Given the description of an element on the screen output the (x, y) to click on. 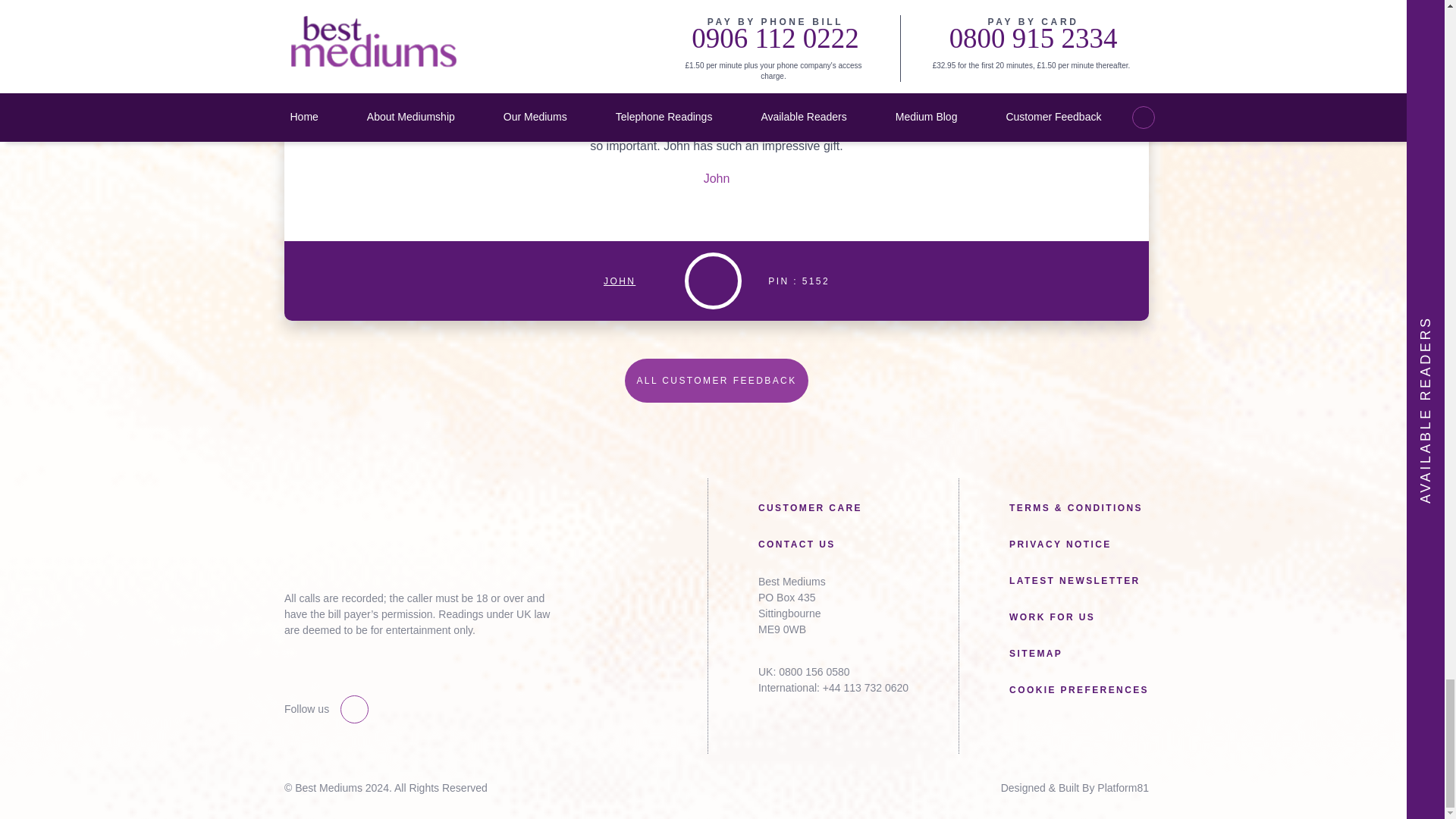
ALL CUSTOMER FEEDBACK (716, 380)
PRIVACY NOTICE (1078, 544)
CONTACT US (833, 544)
JOHN (619, 280)
